Given the description of an element on the screen output the (x, y) to click on. 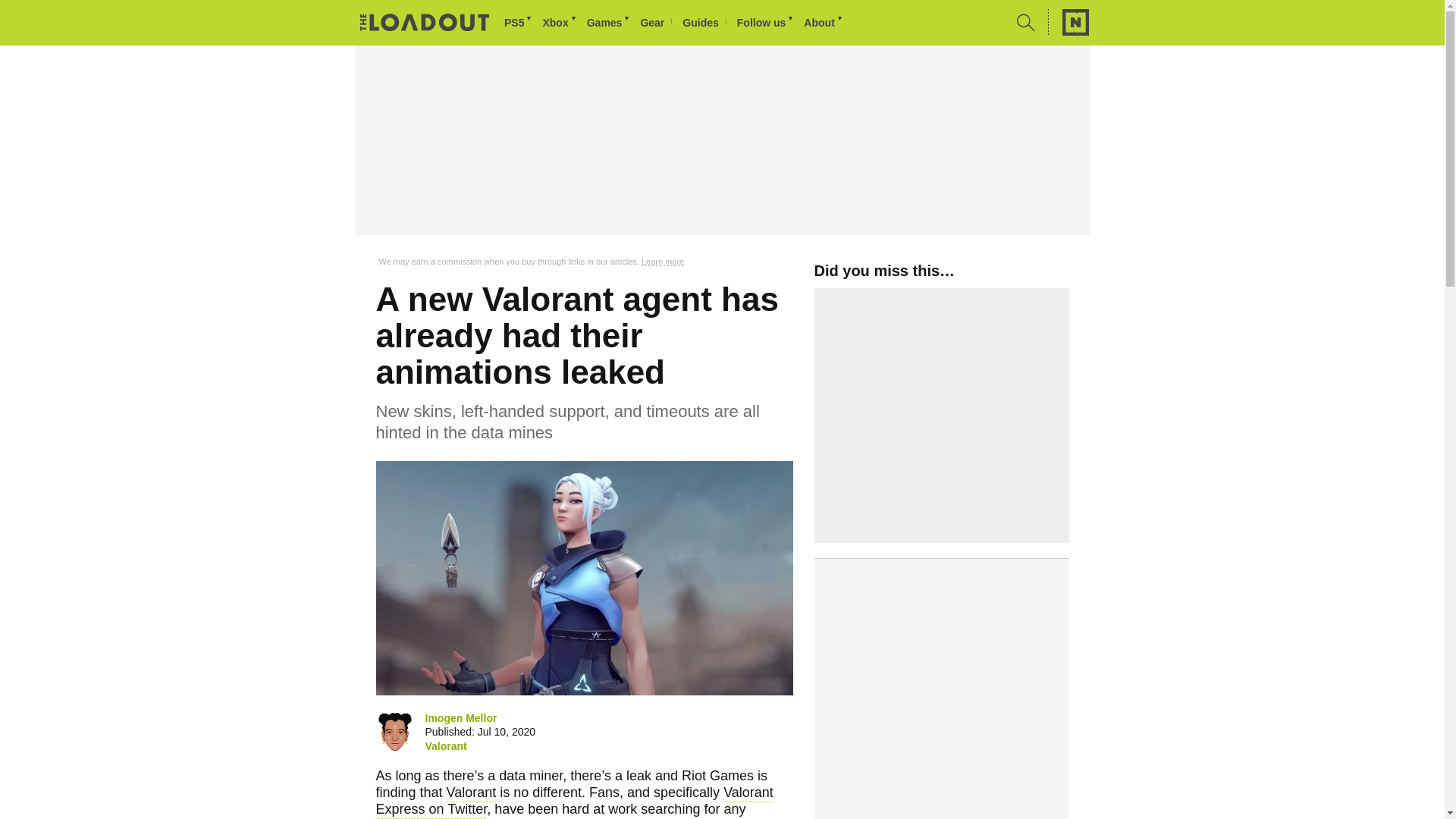
Games (608, 22)
Imogen Mellor (394, 731)
Imogen Mellor (460, 717)
The Loadout (424, 24)
Game Guides (704, 22)
A new Valorant agent has already had their animations leaked (584, 578)
Network N Media (1068, 22)
Learn more (663, 261)
Follow us (765, 22)
Guides (704, 22)
